Given the description of an element on the screen output the (x, y) to click on. 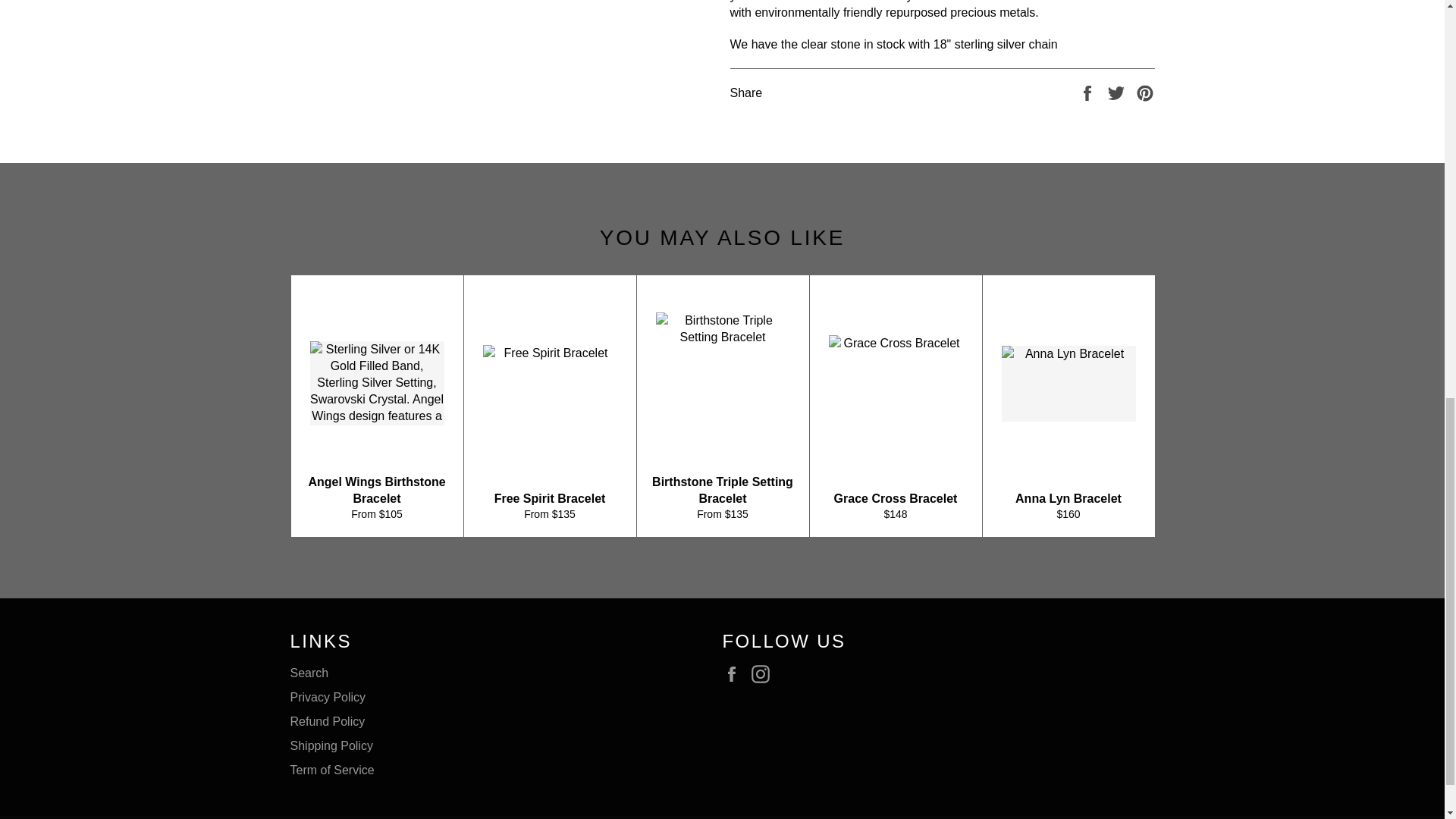
Pin on Pinterest (1144, 91)
Search (309, 672)
Refund Policy (327, 721)
Tweet on Twitter (1117, 91)
Privacy Policy (327, 697)
Tweet on Twitter (1117, 91)
Ray Harp Jewelers on Instagram (764, 674)
Shipping Policy (330, 745)
Share on Facebook (1088, 91)
Share on Facebook (1088, 91)
Pin on Pinterest (1144, 91)
Ray Harp Jewelers on Facebook (735, 674)
